Given the description of an element on the screen output the (x, y) to click on. 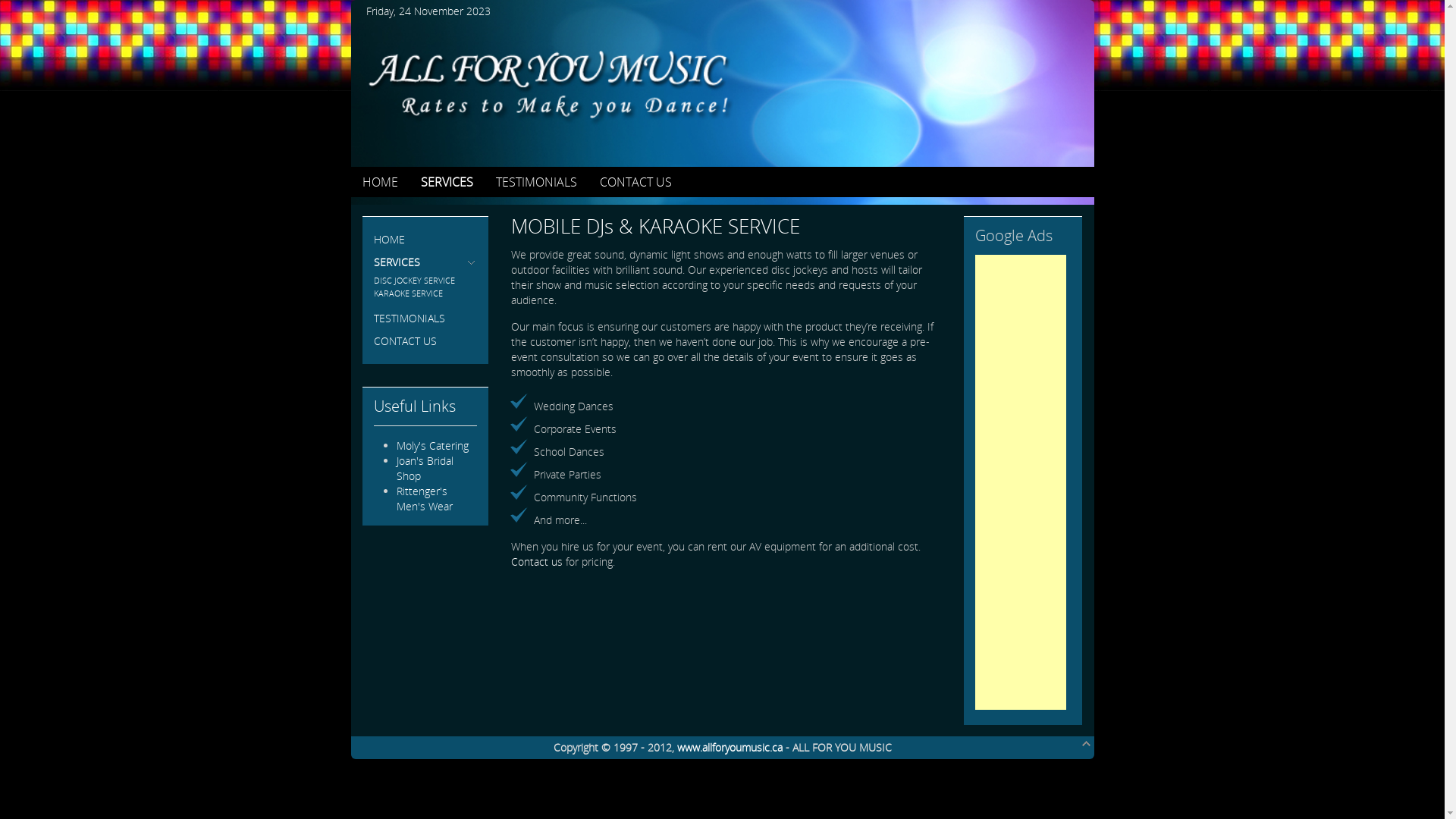
HOME Element type: text (424, 239)
Advertisement Element type: hover (1020, 481)
SERVICES Element type: text (424, 262)
TESTIMONIALS Element type: text (424, 318)
www.allforyoumusic.ca Element type: text (728, 747)
CONTACT US Element type: text (634, 181)
Rittenger's Men's Wear Element type: text (423, 498)
Contact us Element type: text (536, 561)
TESTIMONIALS Element type: text (536, 181)
HOME Element type: text (379, 181)
KARAOKE SERVICE Element type: text (424, 292)
SERVICES Element type: text (446, 181)
CONTACT US Element type: text (424, 340)
Moly's Catering Element type: text (431, 445)
Joan's Bridal Shop Element type: text (423, 468)
DISC JOCKEY SERVICE Element type: text (424, 279)
